Given the description of an element on the screen output the (x, y) to click on. 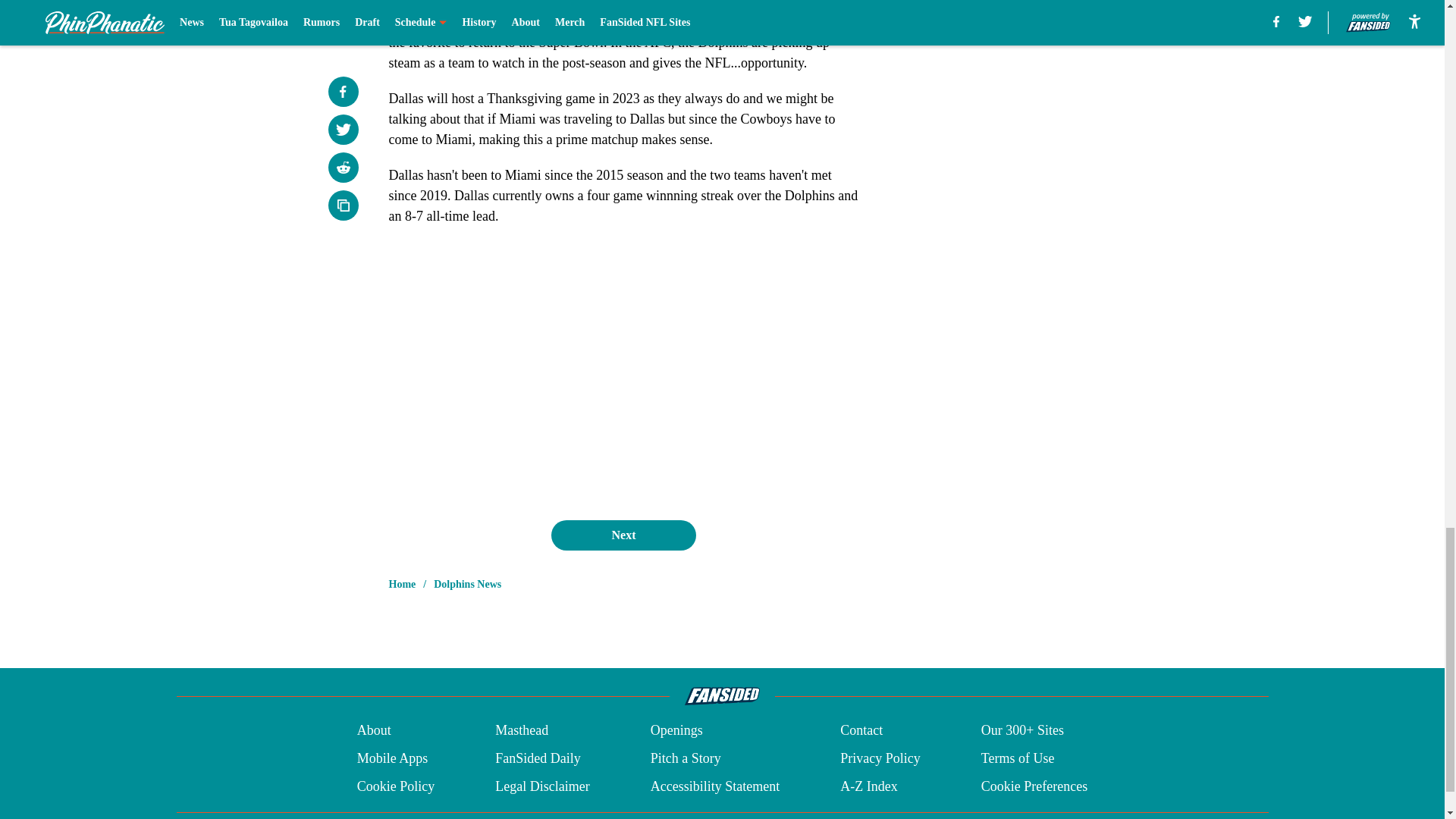
Dolphins News (466, 584)
Openings (676, 730)
Home (401, 584)
Masthead (521, 730)
Privacy Policy (880, 758)
About (373, 730)
Mobile Apps (392, 758)
Pitch a Story (685, 758)
FanSided Daily (537, 758)
Next (622, 535)
Contact (861, 730)
